Given the description of an element on the screen output the (x, y) to click on. 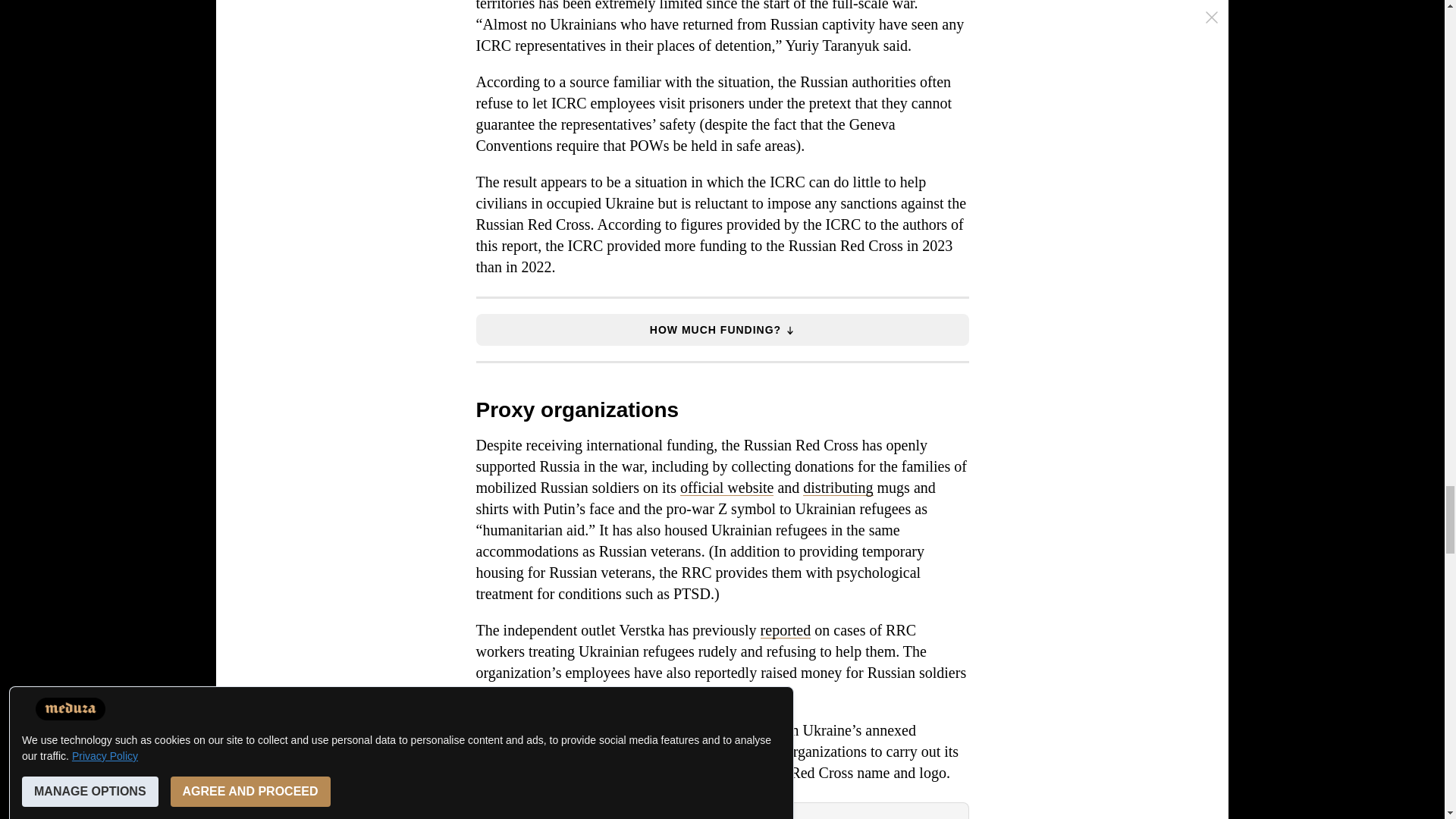
official website (726, 487)
HOW MUCH FUNDING? (722, 329)
distributing (837, 487)
